Given the description of an element on the screen output the (x, y) to click on. 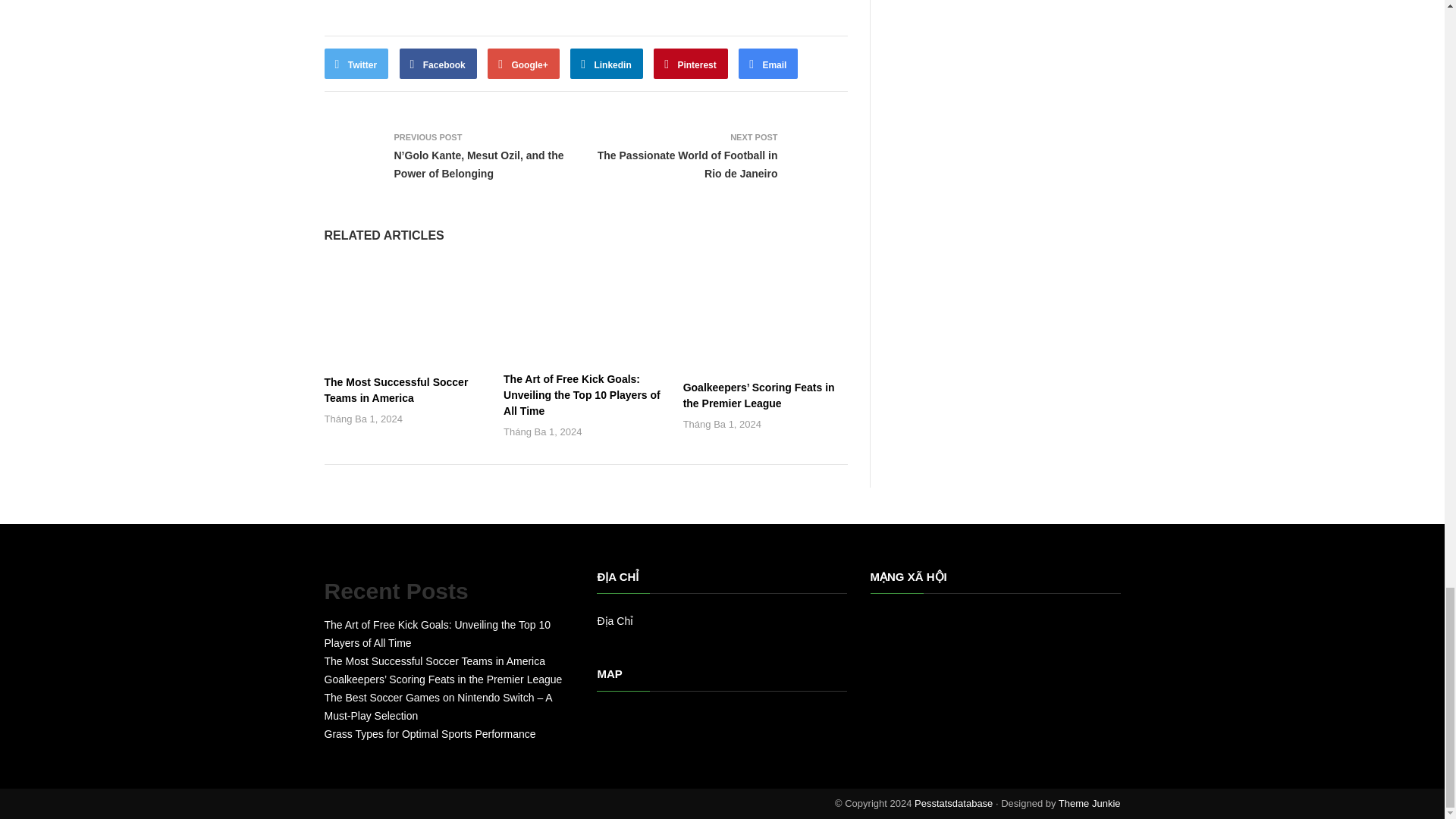
The Most Successful Soccer Teams in America (396, 389)
Twitter (356, 63)
Email (767, 63)
Linkedin (606, 63)
Facebook (437, 63)
Pinterest (690, 63)
The Passionate World of Football in Rio de Janeiro (686, 164)
